Given the description of an element on the screen output the (x, y) to click on. 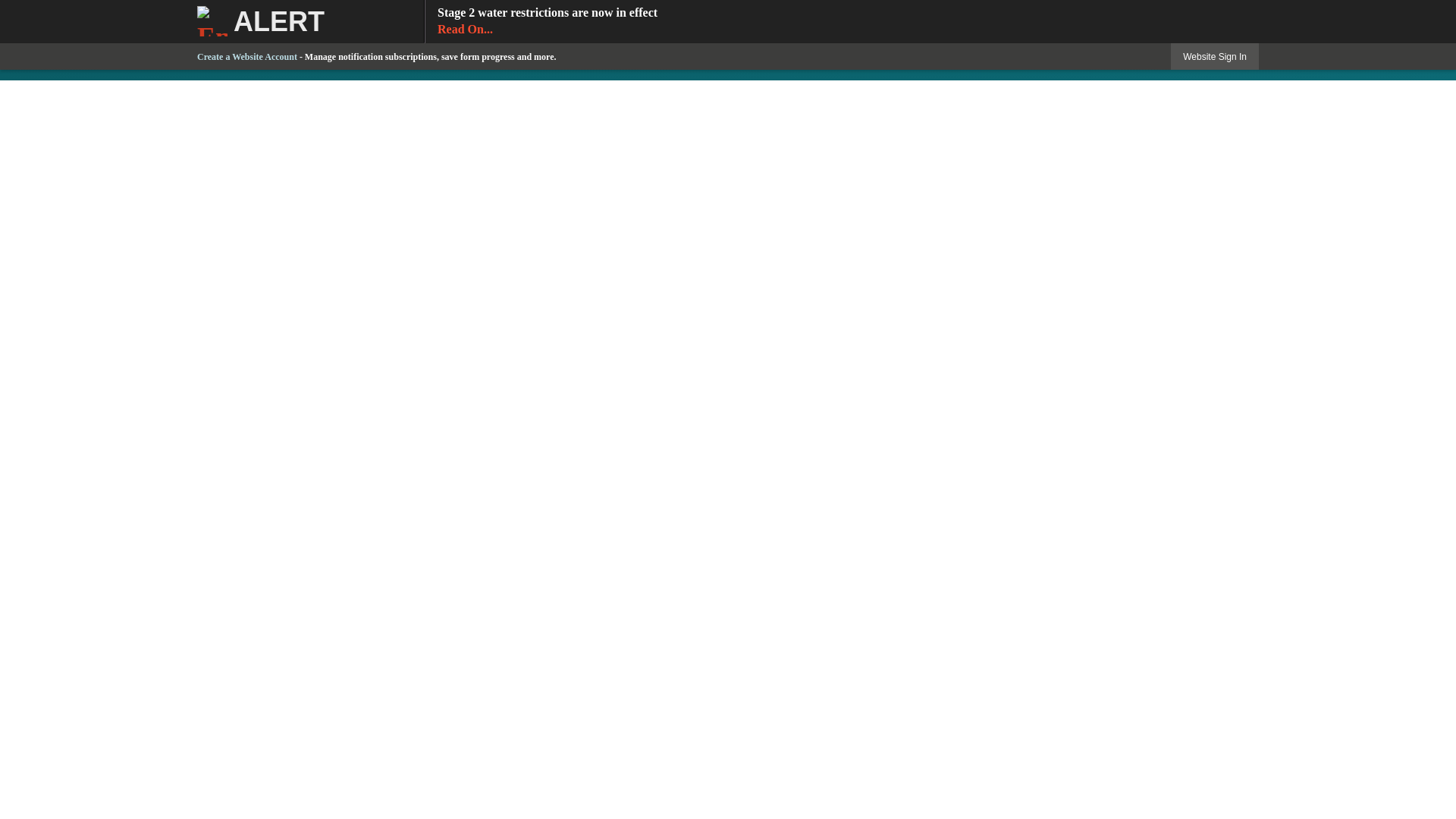
ALERT (310, 21)
Create a Website Account (842, 21)
How can we help... (246, 56)
Skip to Main Content (1345, 40)
Website Sign In (6, 6)
